Given the description of an element on the screen output the (x, y) to click on. 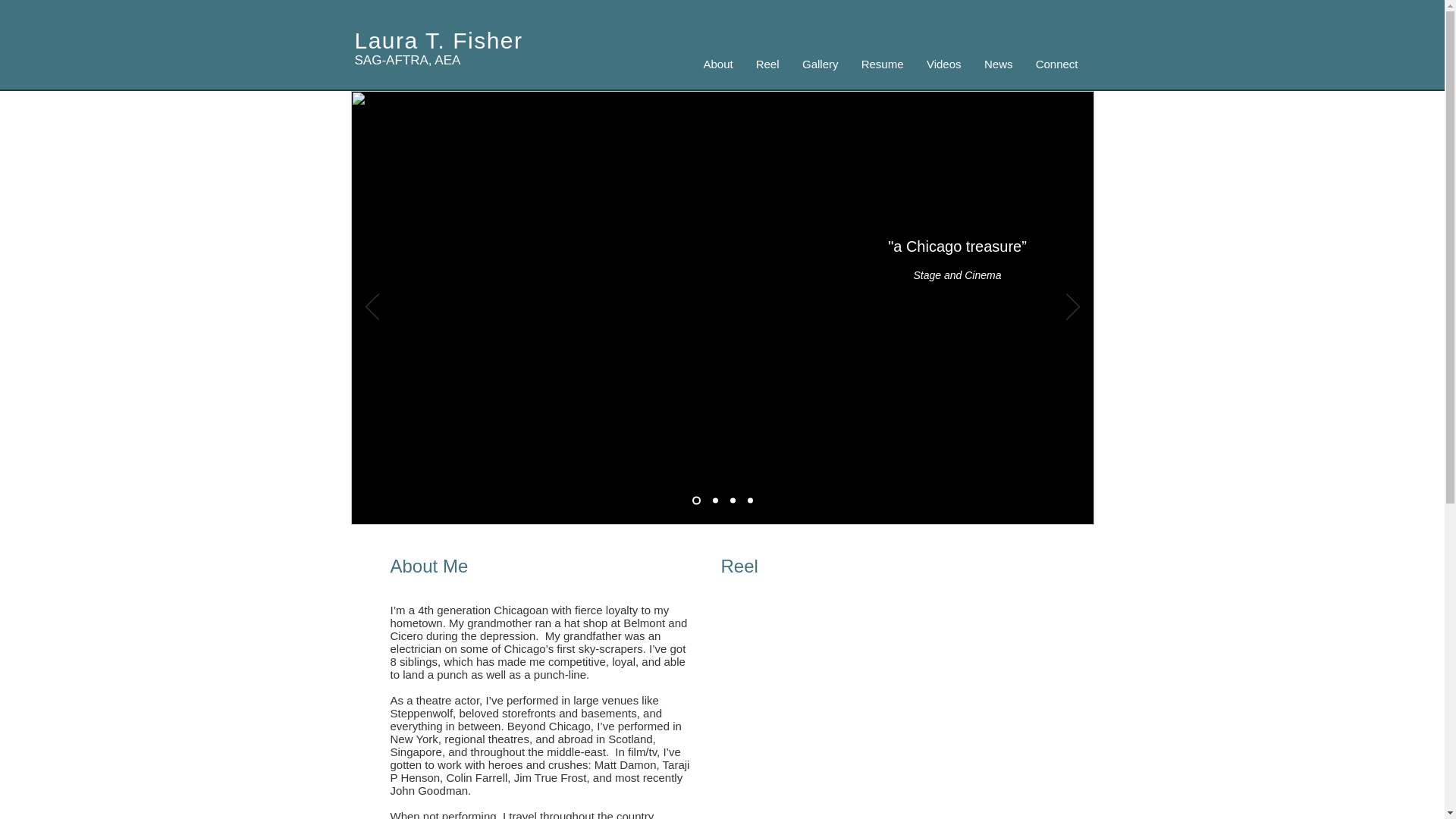
Reel (767, 64)
Laura T. Fisher (438, 40)
News (997, 64)
Videos (943, 64)
Resume (881, 64)
About (717, 64)
Gallery (819, 64)
Connect (1056, 64)
